Given the description of an element on the screen output the (x, y) to click on. 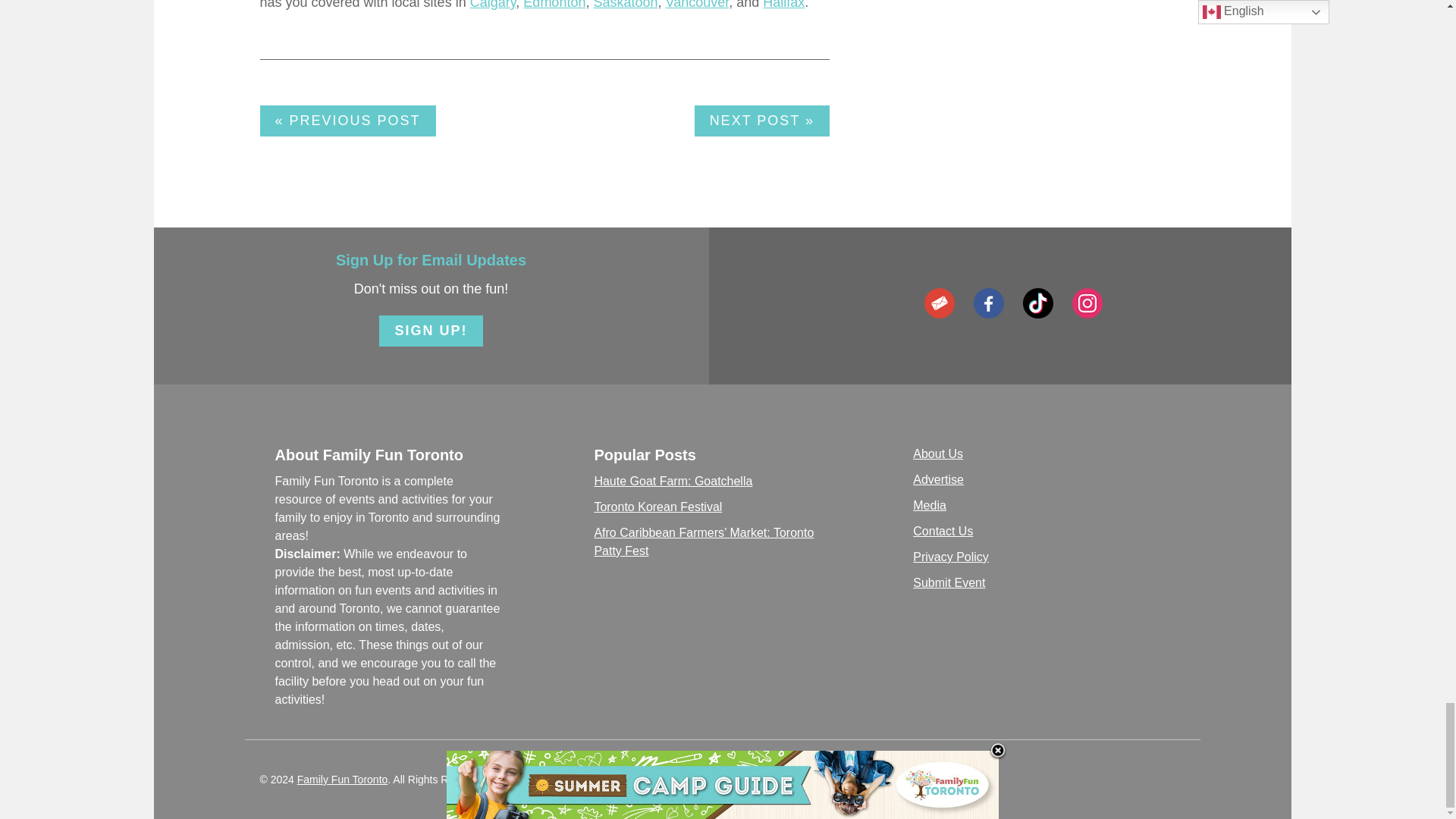
Facebook (989, 303)
TikTok (1037, 303)
Email (939, 303)
Instagram (1086, 303)
